Given the description of an element on the screen output the (x, y) to click on. 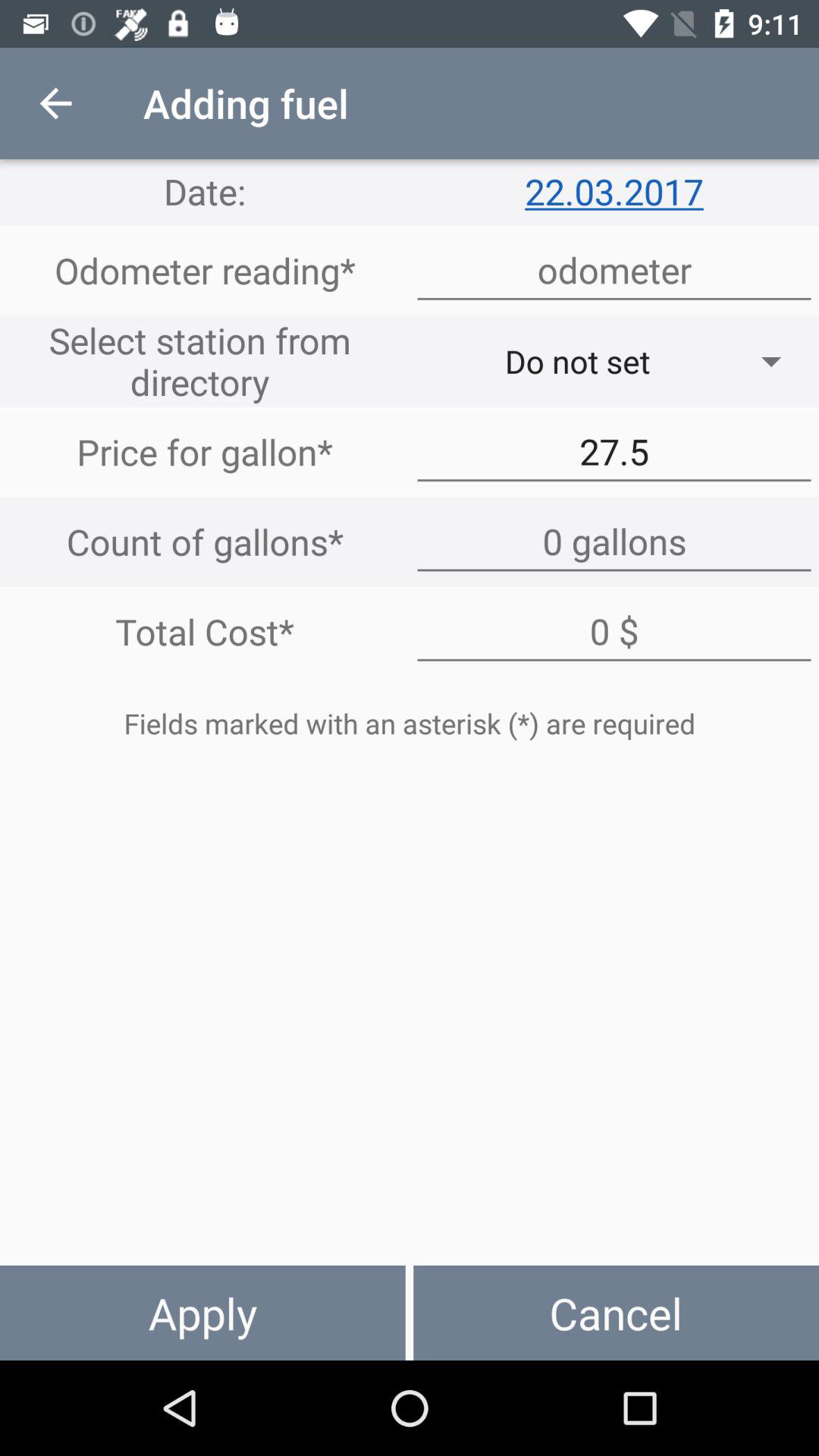
type the total (614, 631)
